Given the description of an element on the screen output the (x, y) to click on. 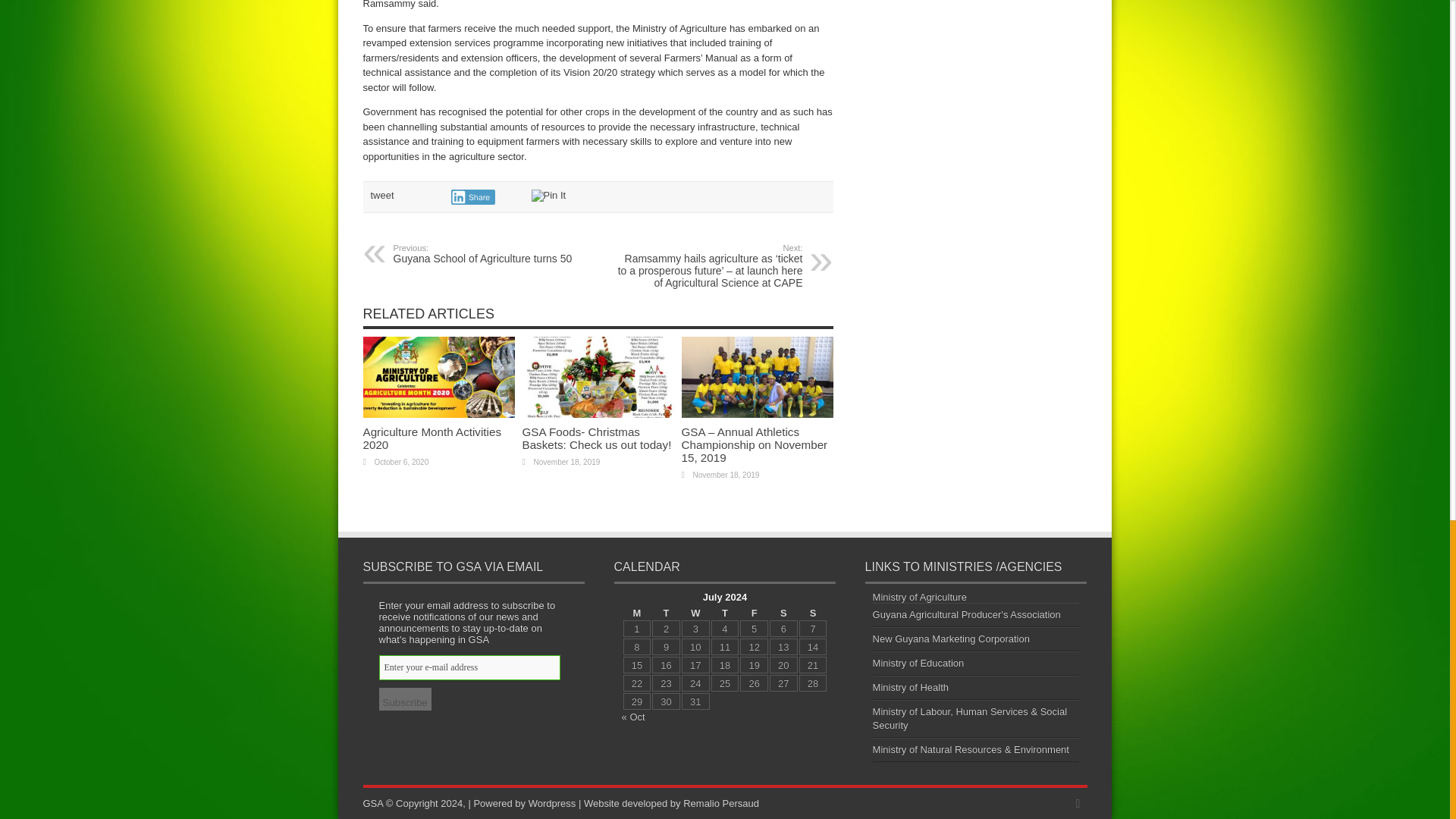
Enter your e-mail address (469, 667)
Pin It (548, 195)
Permalink to Agriculture Month Activities 2020 (437, 414)
Subscribe (404, 698)
tweet (381, 194)
